Given the description of an element on the screen output the (x, y) to click on. 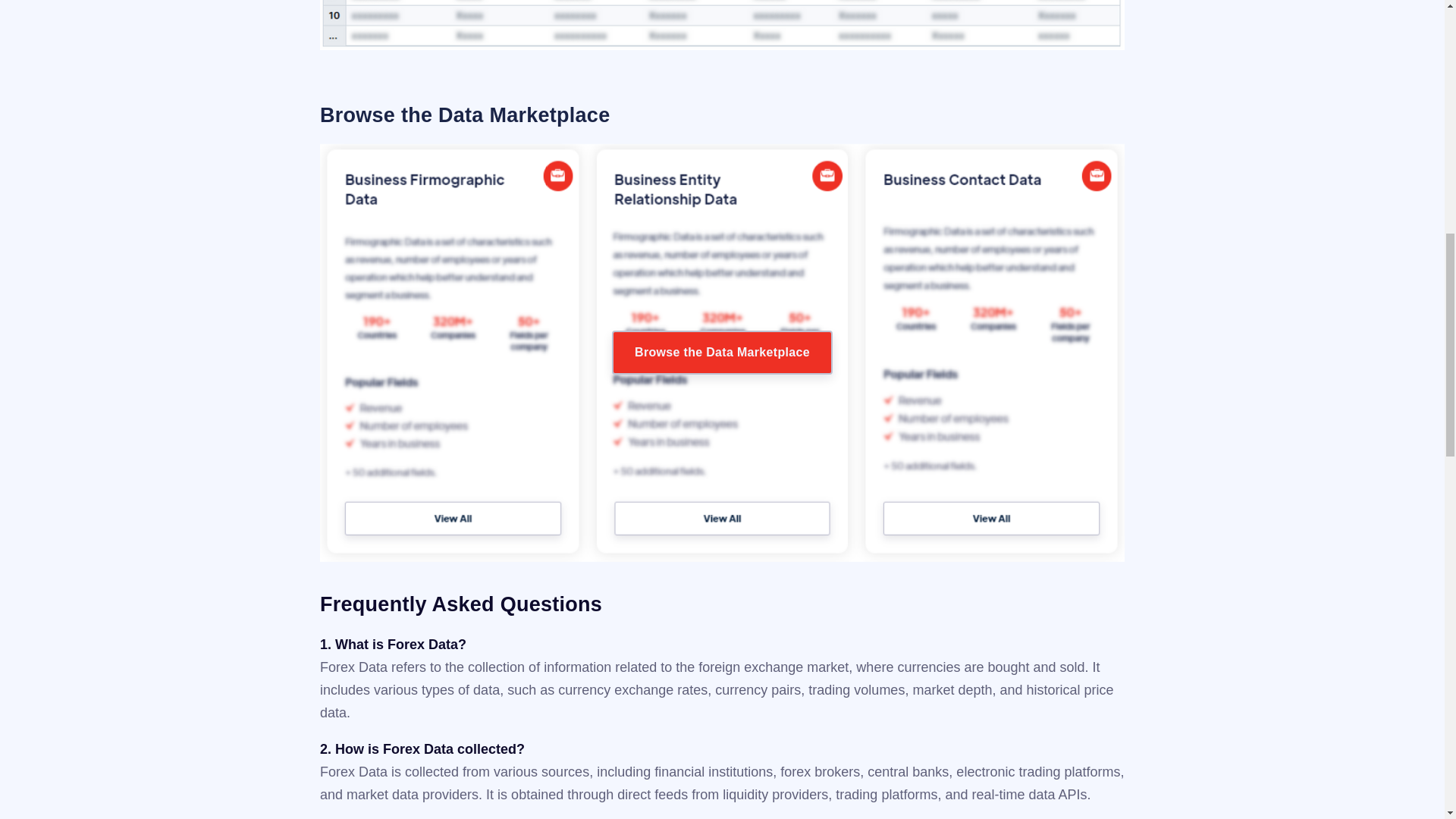
Browse the Data Marketplace (721, 352)
